Given the description of an element on the screen output the (x, y) to click on. 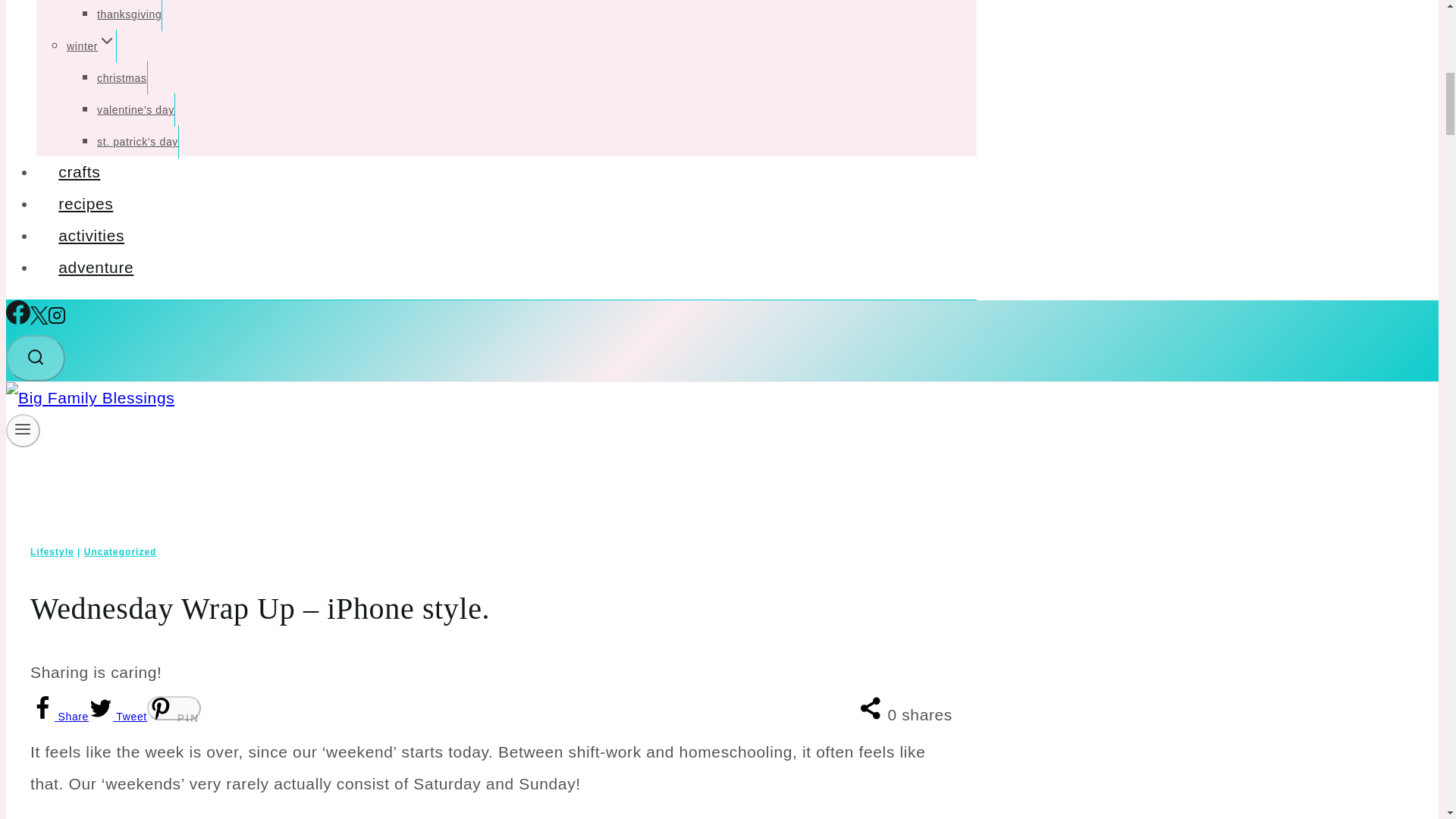
Share on Facebook (59, 716)
winterexpand (91, 46)
adventure (95, 267)
X (39, 315)
SEARCH (35, 357)
X (39, 318)
thanksgiving (129, 15)
Share on Twitter (117, 716)
Instagram (56, 318)
crafts (79, 171)
